Given the description of an element on the screen output the (x, y) to click on. 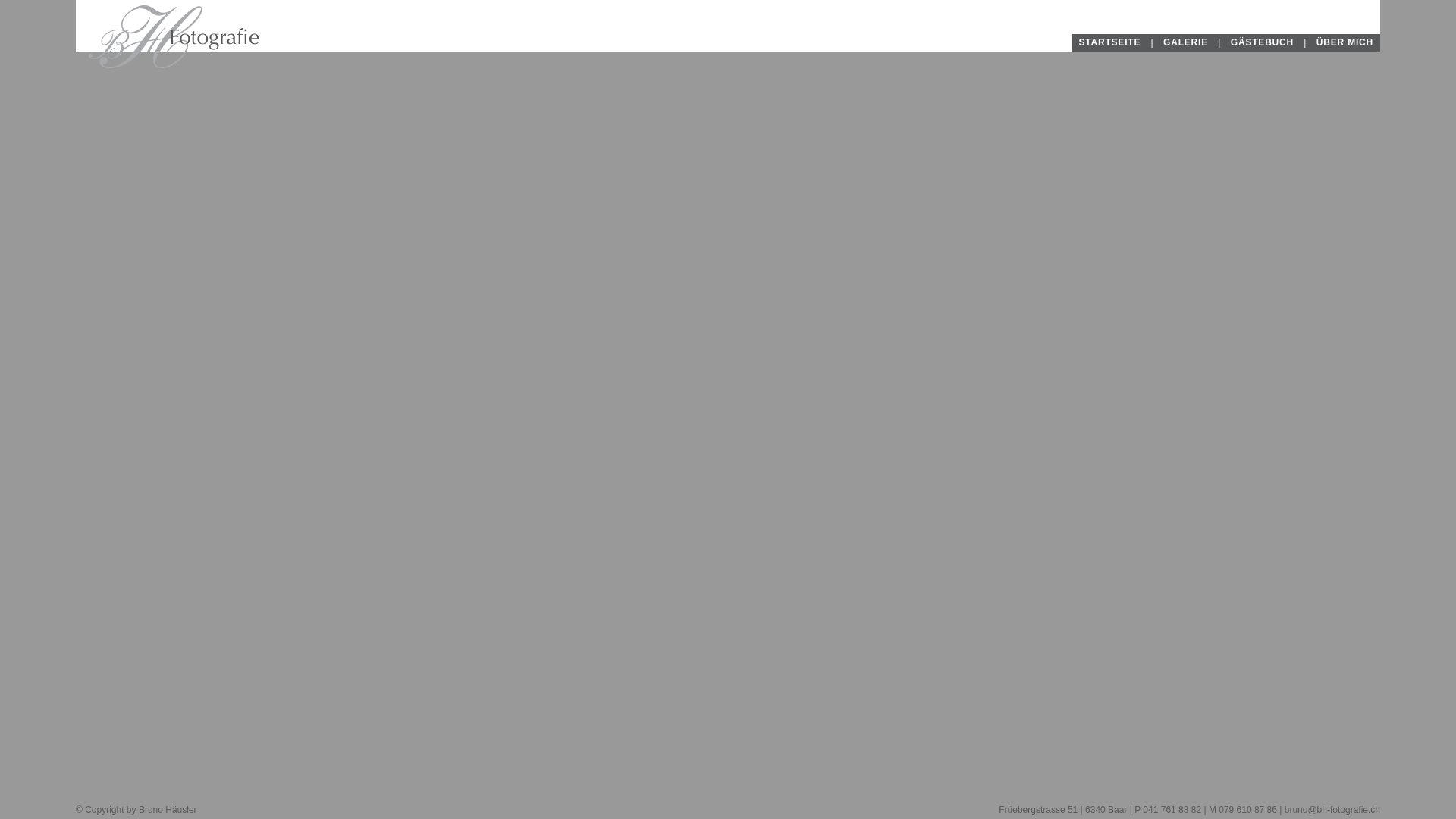
STARTSEITE Element type: text (1109, 42)
GALERIE Element type: text (1185, 42)
bruno@bh-fotografie.ch Element type: text (1332, 809)
